Given the description of an element on the screen output the (x, y) to click on. 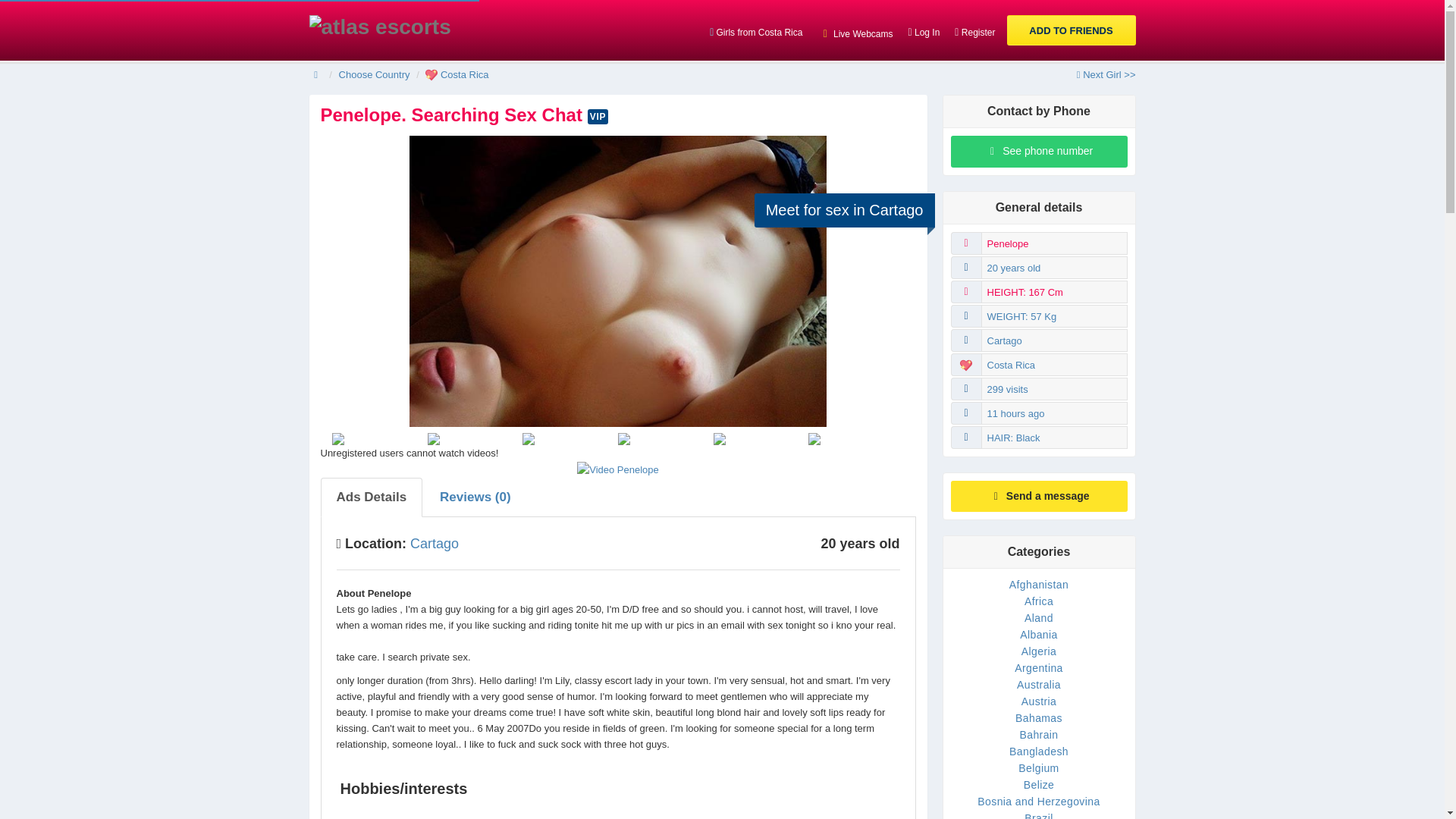
Algeria (1039, 651)
Austria (1039, 701)
Send a message (1038, 496)
Africa (1038, 601)
Register (975, 30)
Albania (1039, 634)
Cartago (434, 543)
Bangladesh (1038, 751)
Australia (1038, 684)
Choose Country (374, 74)
ADD TO FRIENDS (1071, 30)
Afghanistan (1038, 584)
Penelope. Searching Sex Chat (453, 114)
Bahrain (1038, 734)
See phone number (1038, 151)
